Given the description of an element on the screen output the (x, y) to click on. 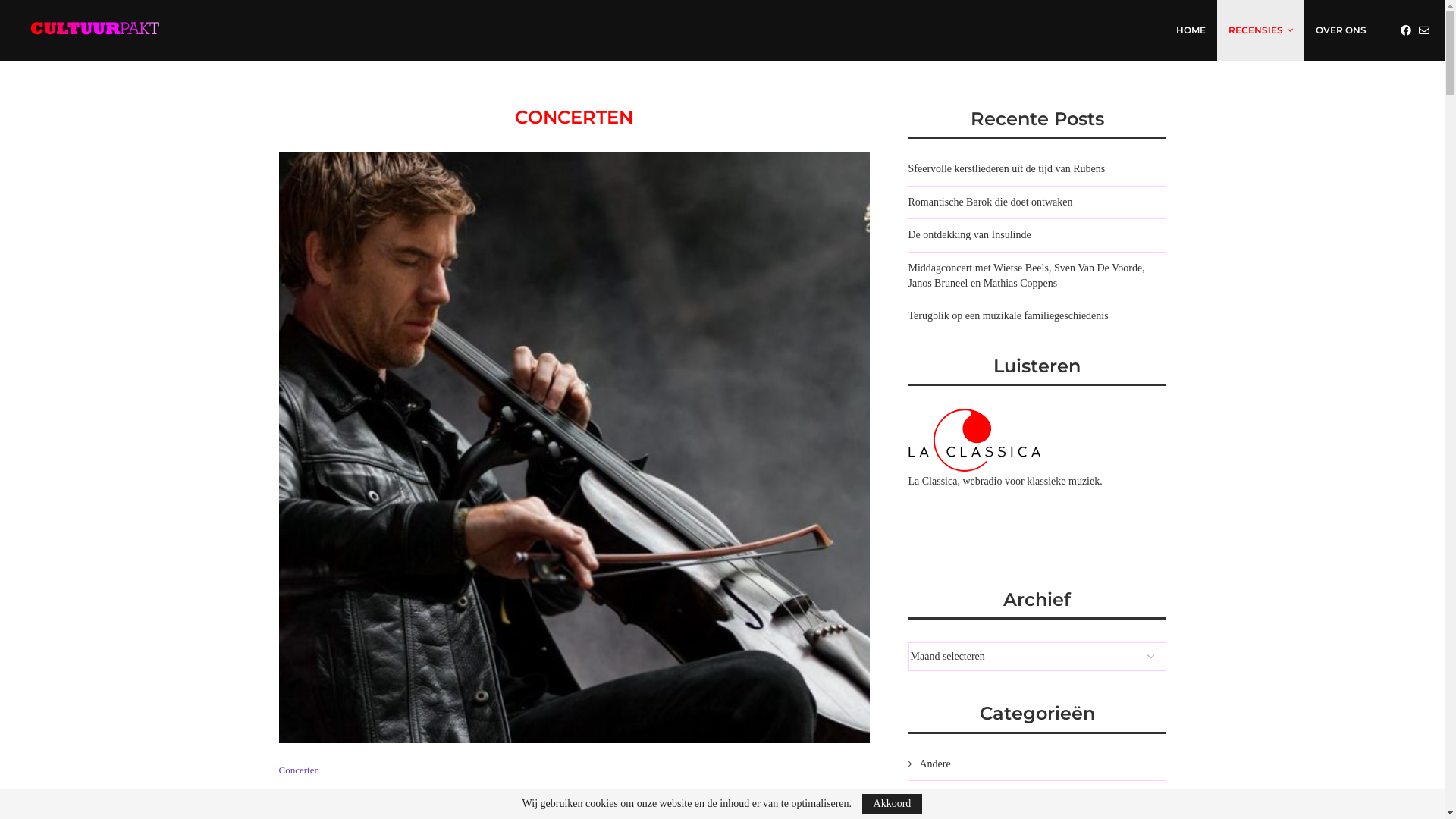
Andere Element type: text (1036, 763)
HOME Element type: text (1190, 30)
De ontdekking van Insulinde Element type: text (969, 234)
Sfeervolle kerstliederen uit de tijd van Rubens Element type: text (1006, 168)
Boeken Element type: text (1036, 796)
Concerten Element type: text (299, 770)
Akkoord Element type: text (892, 803)
OVER ONS Element type: text (1340, 30)
RECENSIES Element type: text (1260, 30)
Romantische Barok die doet ontwaken Element type: text (990, 201)
Terugblik op een muzikale familiegeschiedenis Element type: text (1008, 315)
